Given the description of an element on the screen output the (x, y) to click on. 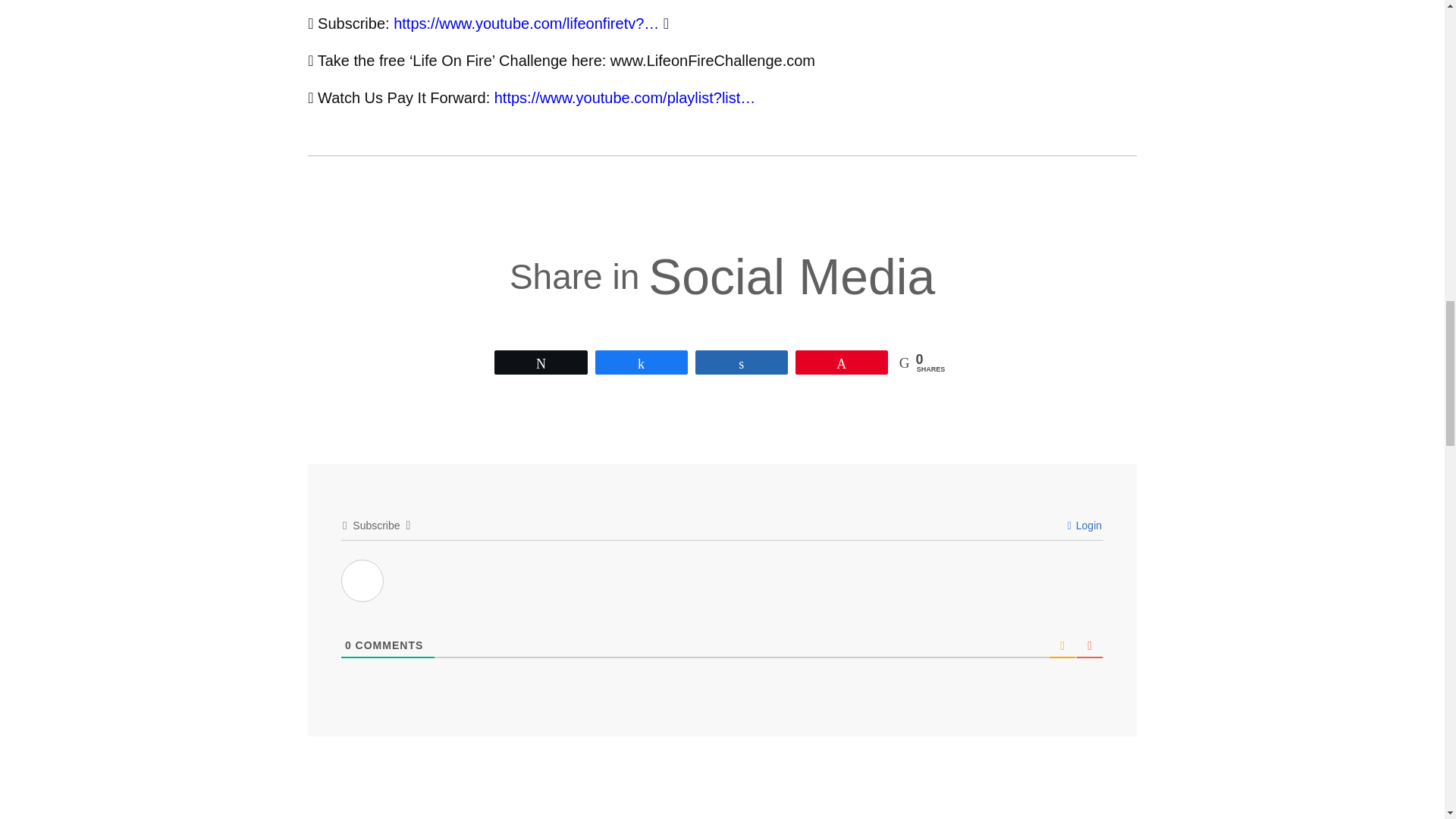
Login (1084, 525)
